Given the description of an element on the screen output the (x, y) to click on. 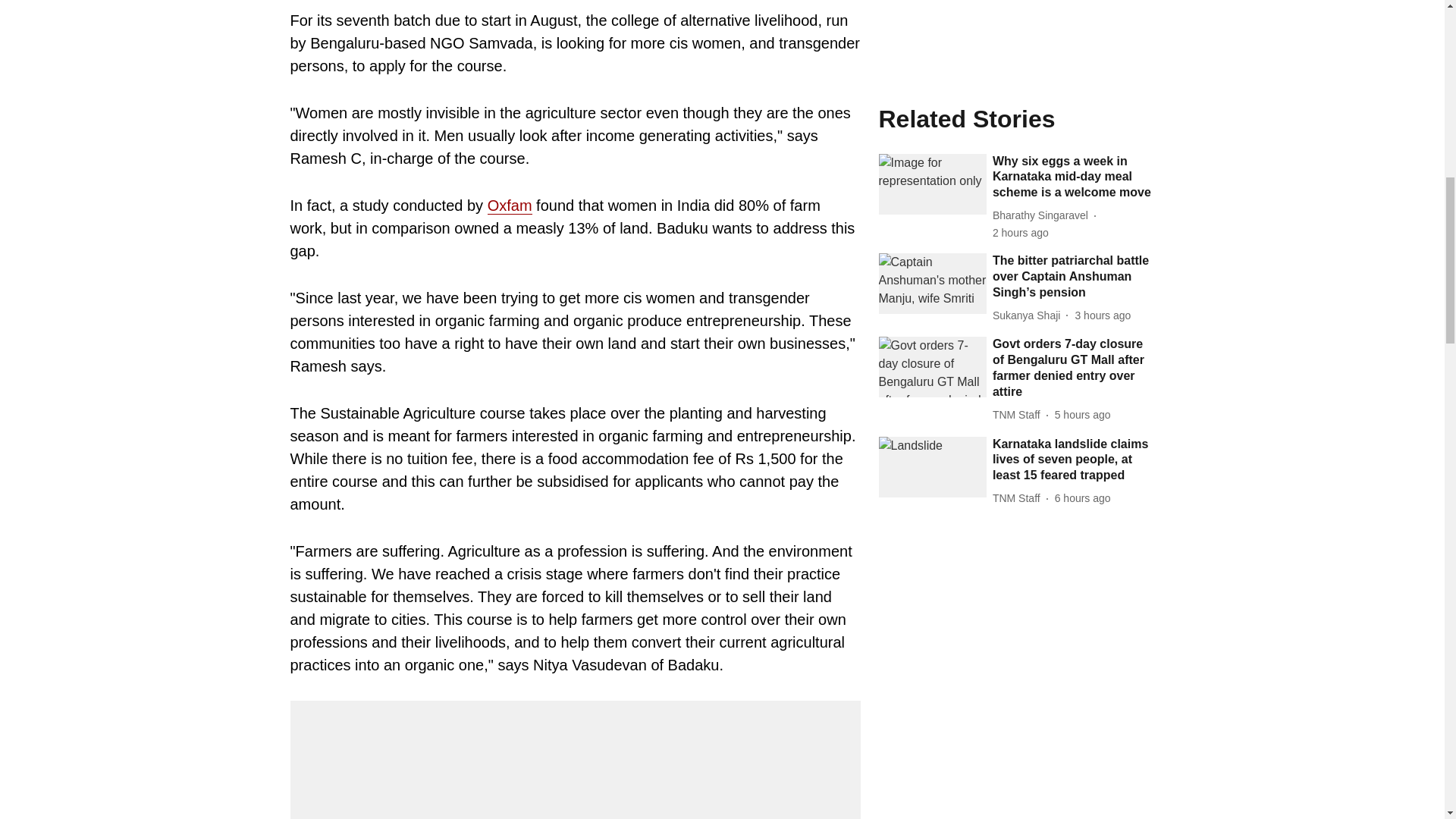
Oxfam (509, 205)
